Given the description of an element on the screen output the (x, y) to click on. 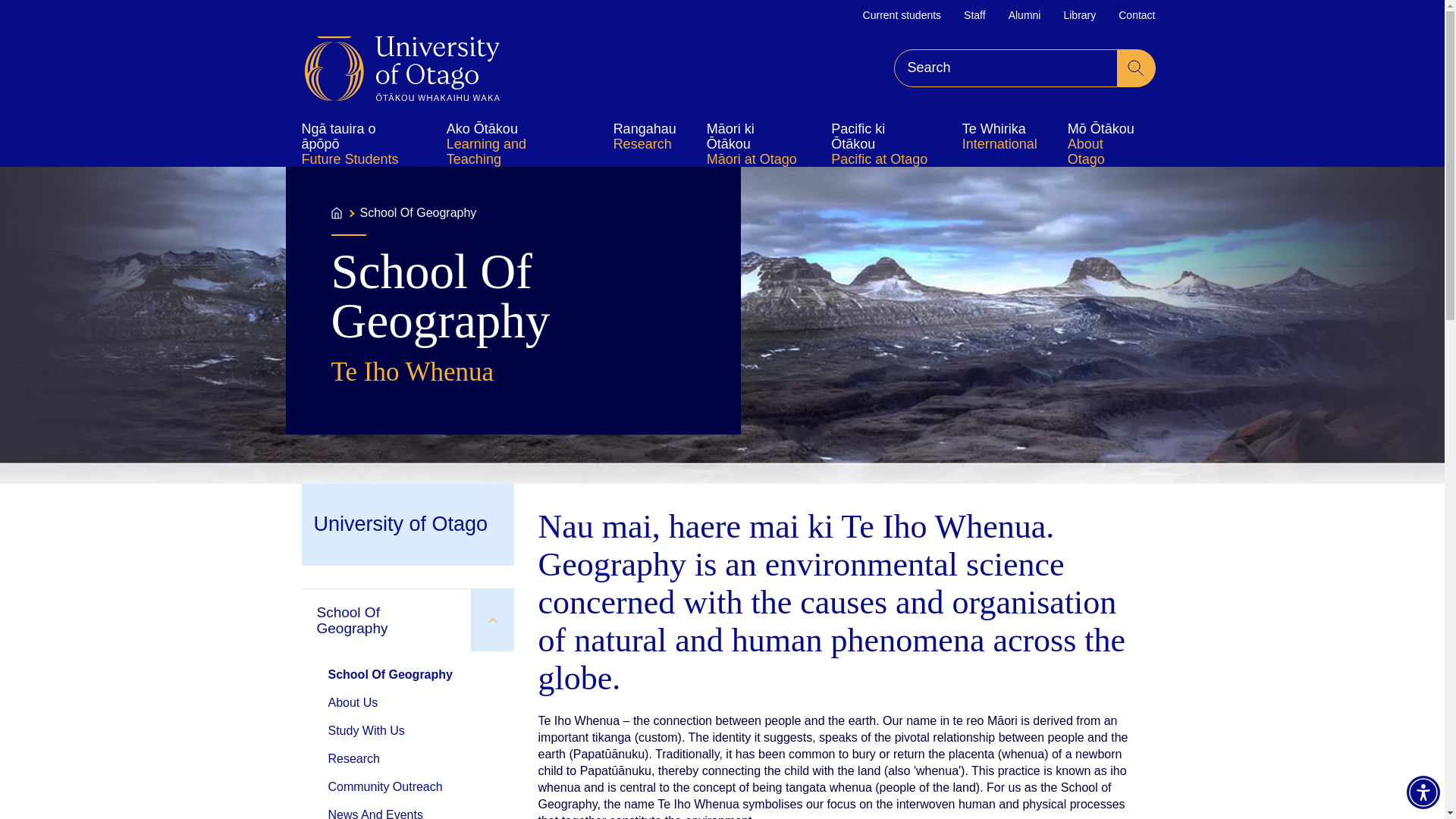
Accessibility Menu (1422, 792)
Library (1079, 15)
Current students (902, 15)
Staff (974, 15)
Home (402, 68)
Contact (1136, 15)
Alumni (1025, 15)
